Given the description of an element on the screen output the (x, y) to click on. 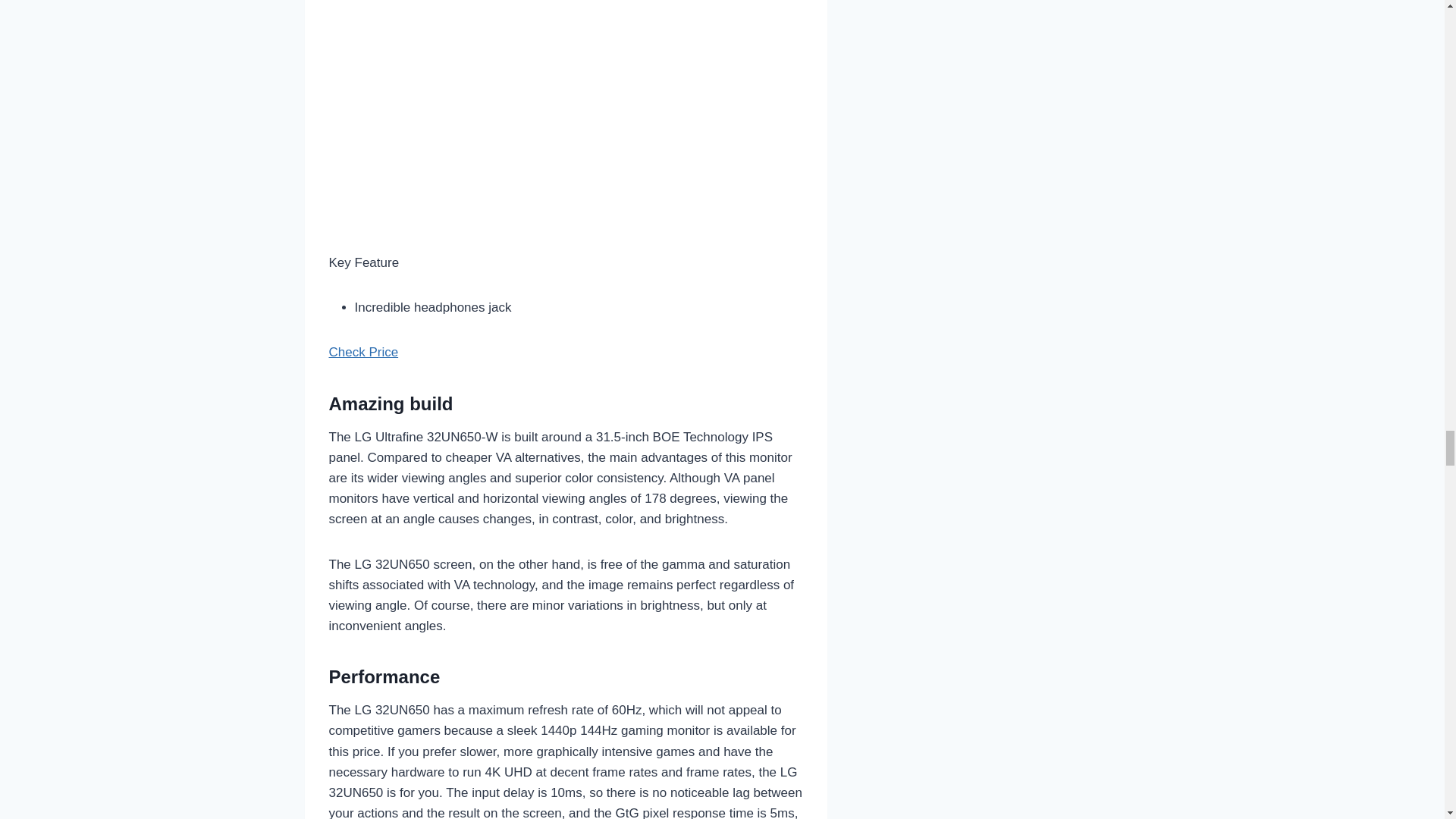
Check Price (363, 351)
